Given the description of an element on the screen output the (x, y) to click on. 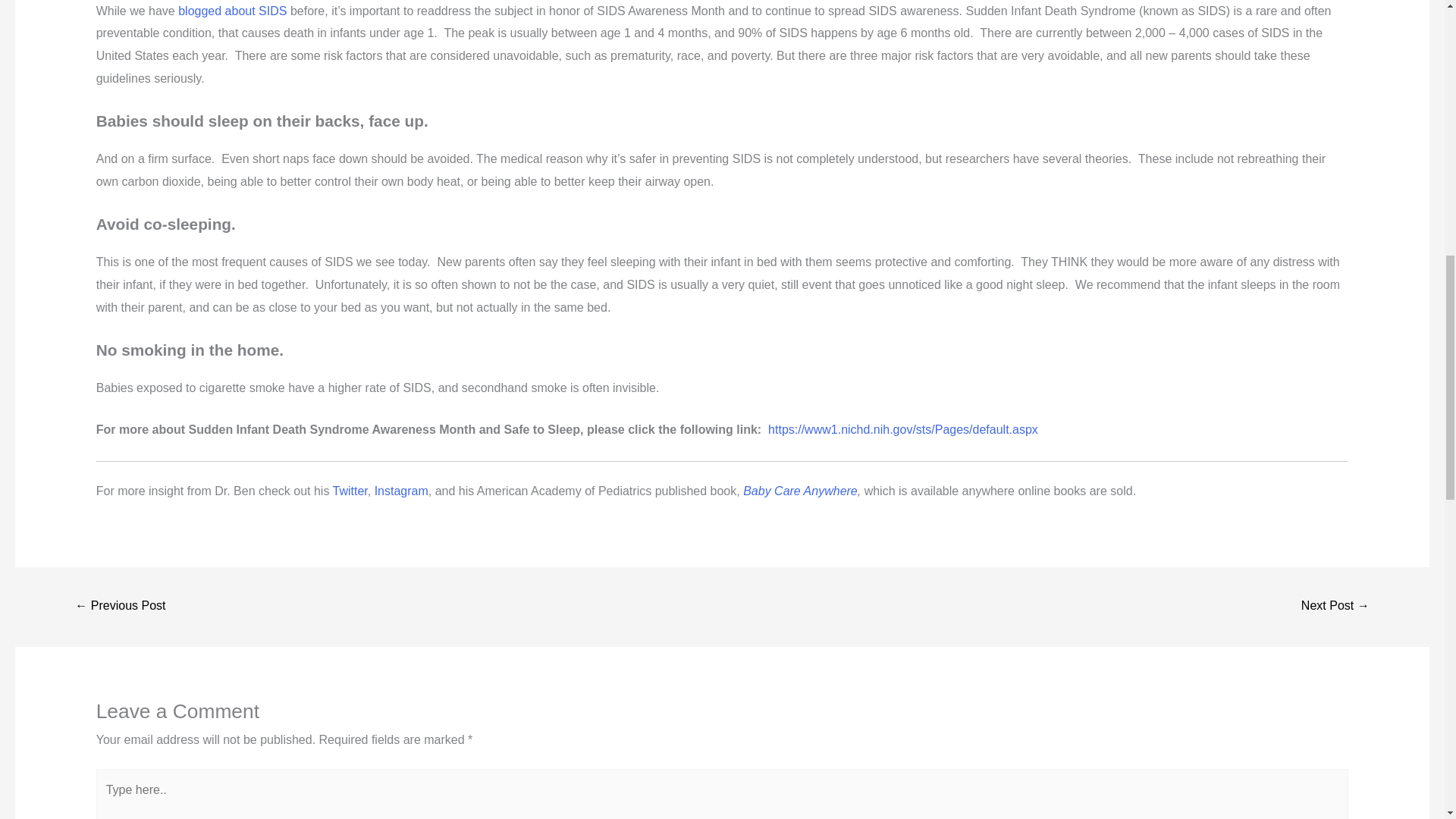
How to Prepare Your Pets for Bringing Home Baby (119, 606)
The Importance of Routines for Children (1334, 606)
